Given the description of an element on the screen output the (x, y) to click on. 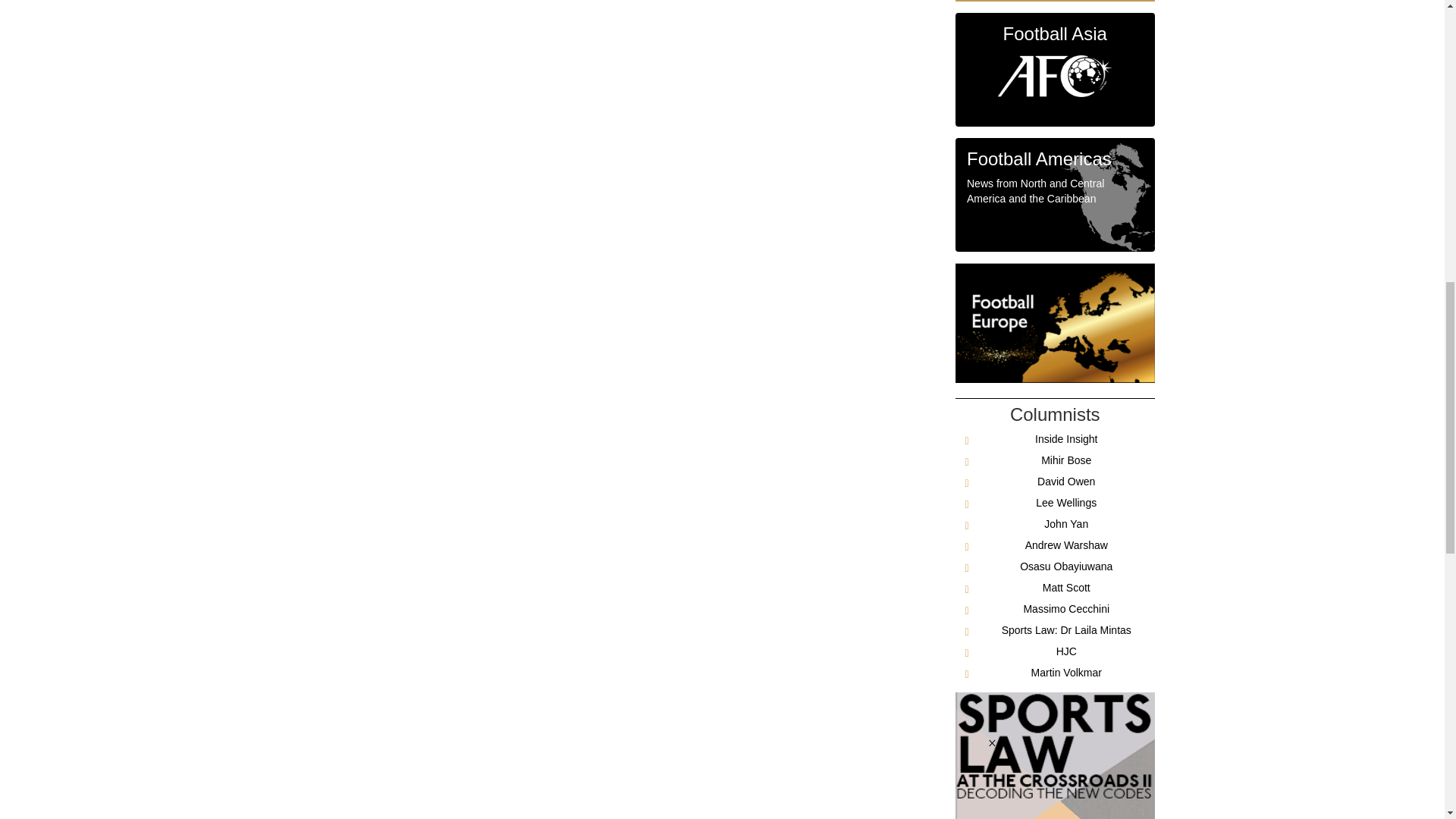
Lee Wellings (1065, 502)
Sports Law: Dr Laila Mintas (1066, 630)
HJC (1067, 651)
Martin Volkmar (1066, 672)
Mihir Bose (1065, 460)
Football Asia (1054, 69)
David Owen (1065, 481)
John Yan (1065, 523)
Osasu Obayiuwana (1066, 566)
